Given the description of an element on the screen output the (x, y) to click on. 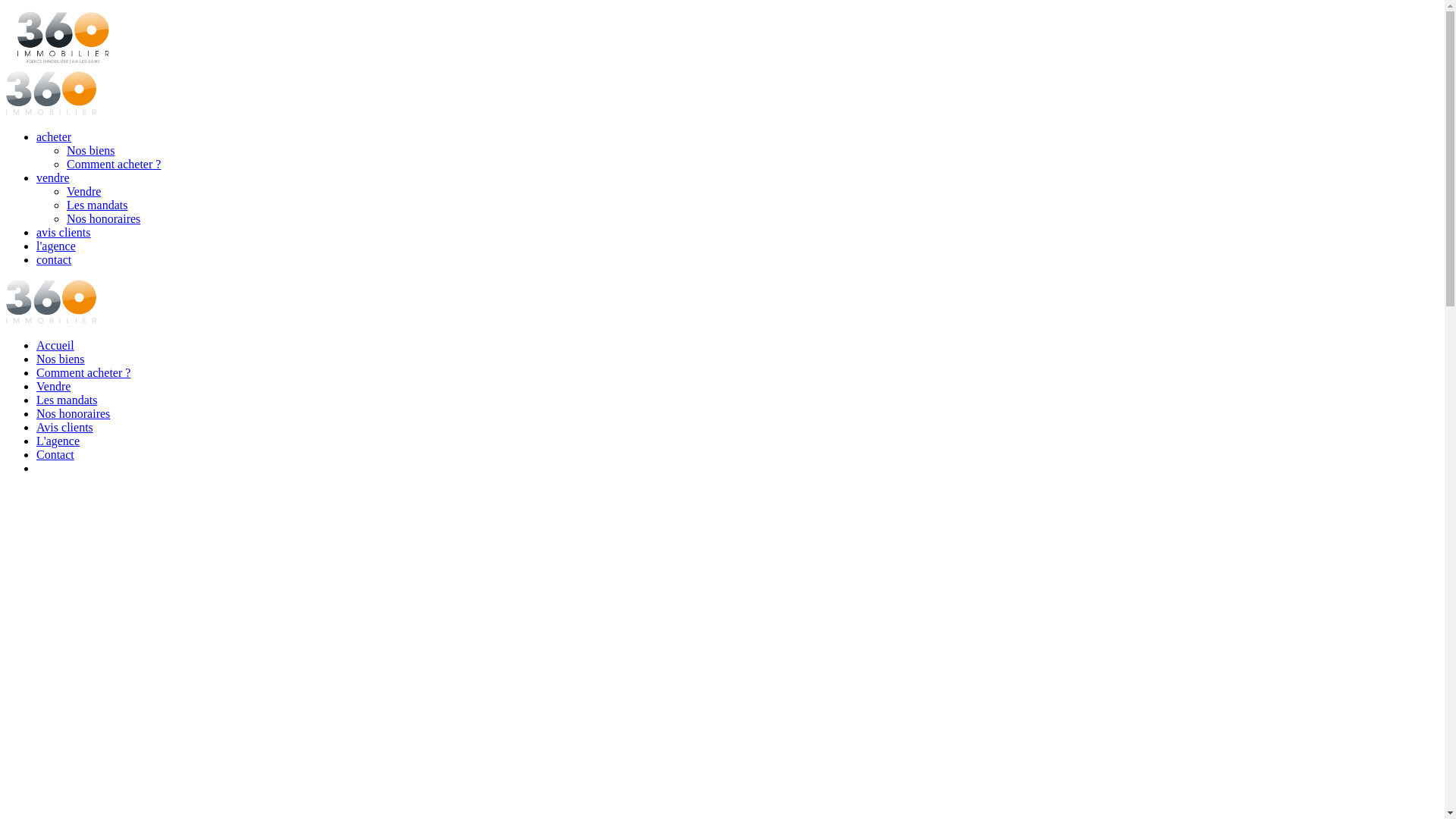
Vendre Element type: text (53, 385)
Nos honoraires Element type: text (103, 218)
L'agence Element type: text (57, 440)
Nos biens Element type: text (90, 150)
Nos biens Element type: text (60, 358)
Comment acheter ? Element type: text (113, 163)
360 immobilier - accueil Element type: hover (51, 110)
avis clients Element type: text (63, 231)
Accueil Element type: text (55, 344)
Comment acheter ? Element type: text (83, 372)
Les mandats Element type: text (66, 399)
Nos honoraires Element type: text (72, 413)
acheter Element type: text (53, 136)
vendre Element type: text (52, 177)
Vendre Element type: text (83, 191)
contact Element type: text (53, 259)
l'agence Element type: text (55, 245)
Les mandats Element type: text (96, 204)
Contact Element type: text (55, 454)
Avis clients Element type: text (64, 426)
